Given the description of an element on the screen output the (x, y) to click on. 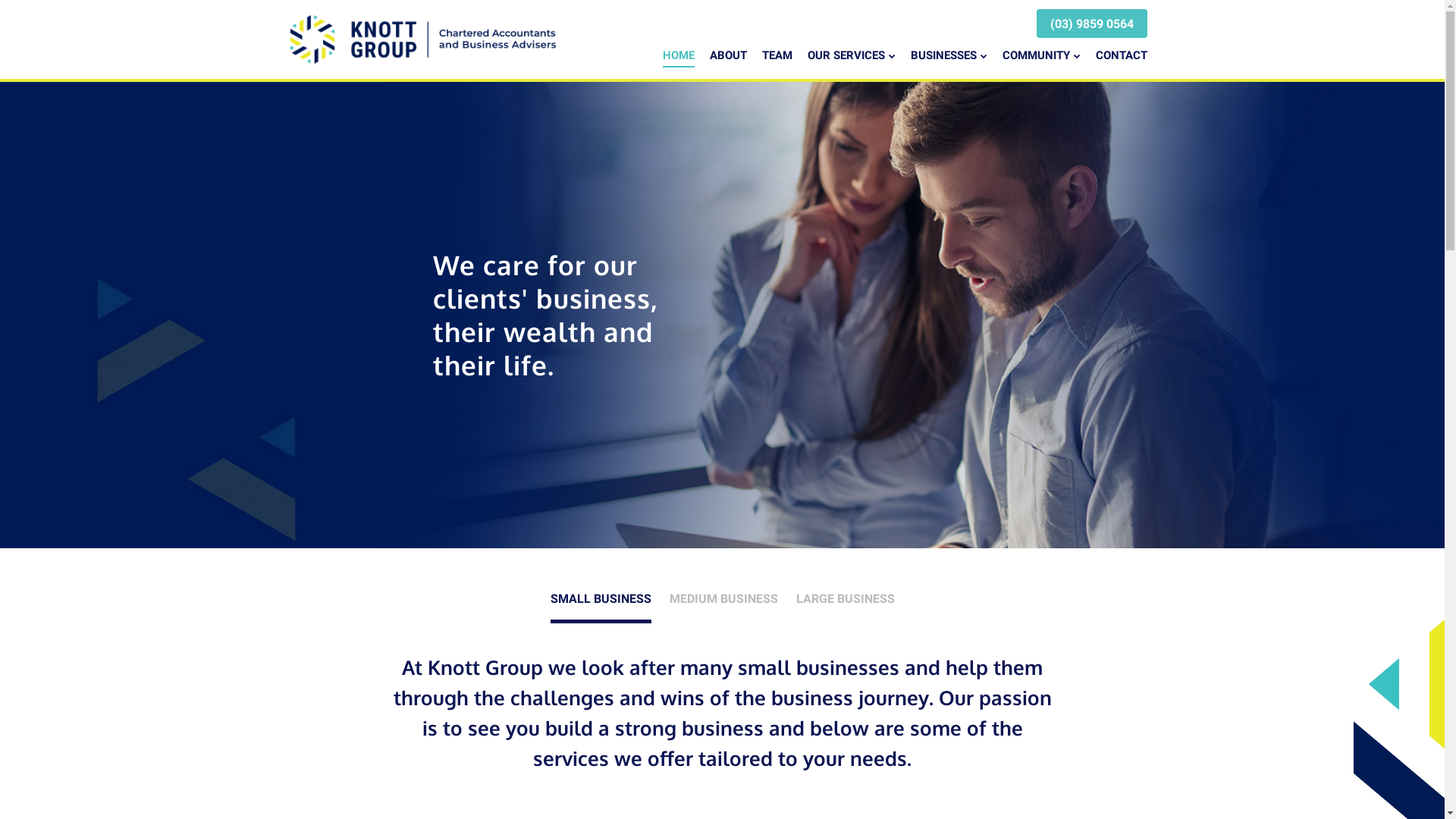
CONTACT Element type: text (1120, 56)
SMALL BUSINESS Element type: text (600, 600)
OUR SERVICES Element type: text (850, 56)
HOME Element type: text (678, 56)
ABOUT Element type: text (727, 56)
COMMUNITY Element type: text (1041, 56)
MEDIUM BUSINESS Element type: text (722, 598)
LARGE BUSINESS Element type: text (845, 598)
TEAM Element type: text (776, 56)
Knott Group Element type: hover (422, 39)
BUSINESSES Element type: text (948, 56)
